Given the description of an element on the screen output the (x, y) to click on. 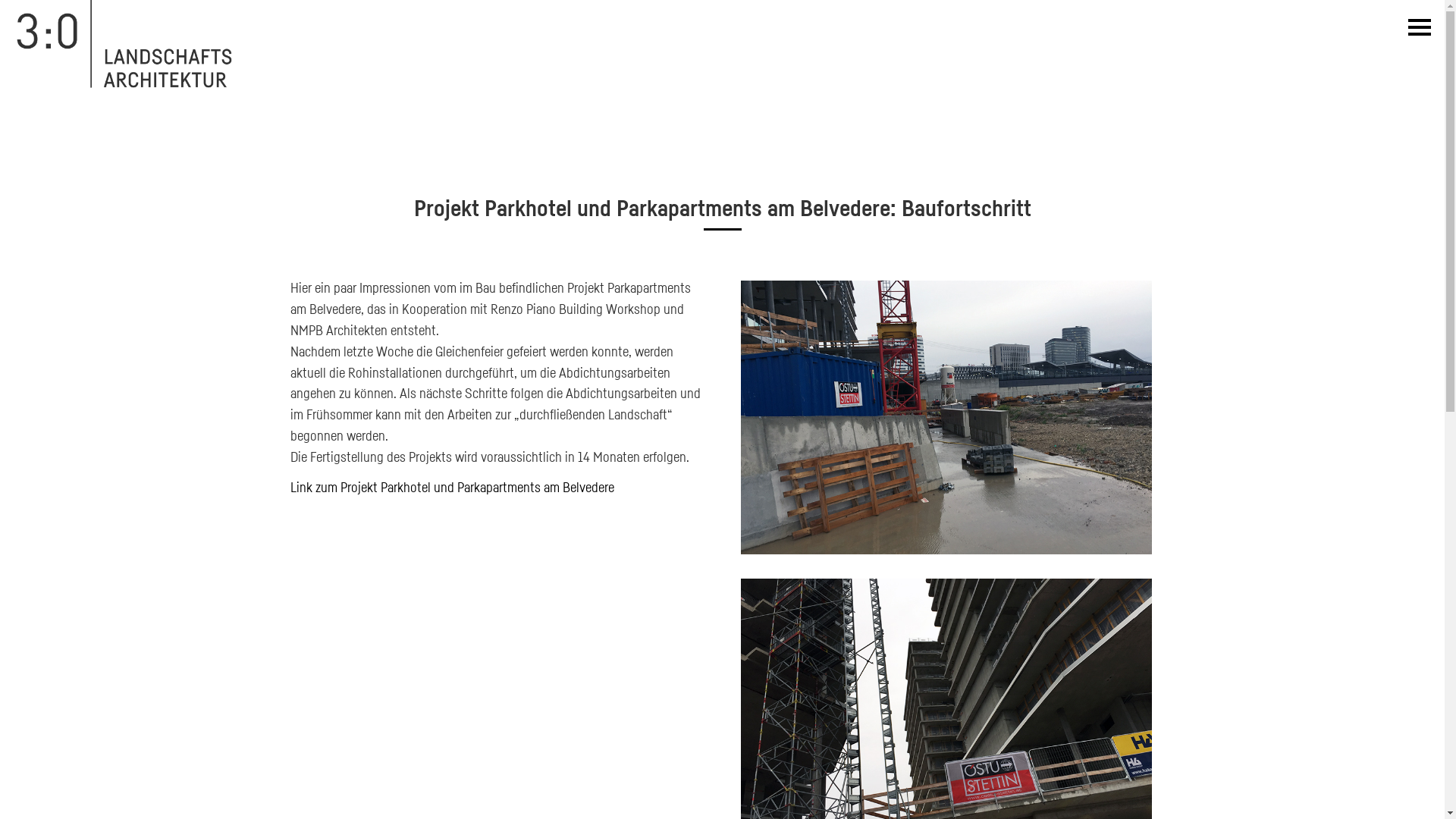
Link zum Projekt Parkhotel und Parkapartments am Belvedere Element type: text (451, 486)
Toggle navigation Element type: text (1416, 26)
